Given the description of an element on the screen output the (x, y) to click on. 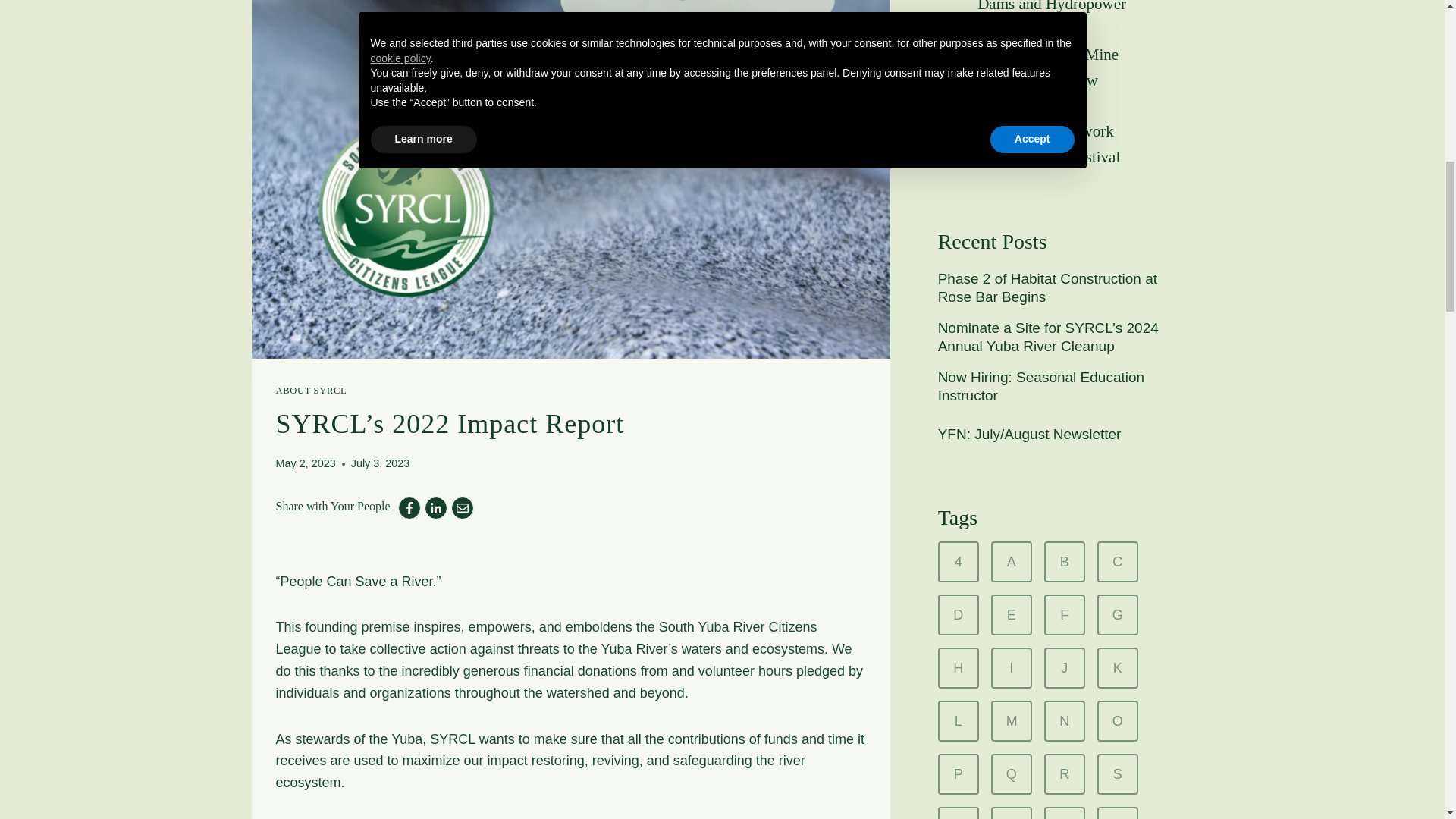
ABOUT SYRCL (311, 389)
